Given the description of an element on the screen output the (x, y) to click on. 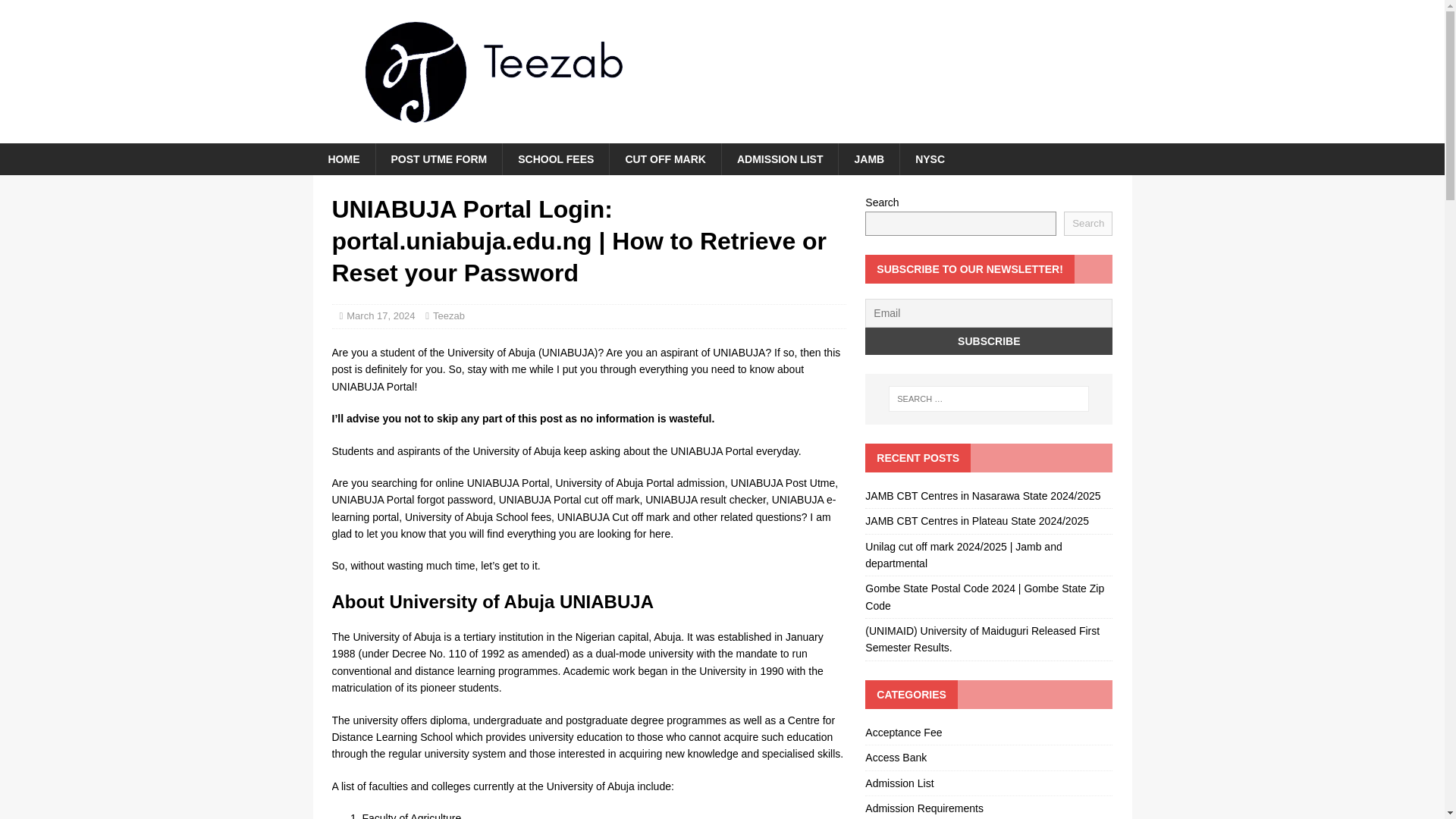
HOME (343, 159)
POST UTME FORM (438, 159)
NYSC (929, 159)
JAMB (868, 159)
Subscribe (988, 340)
March 17, 2024 (380, 315)
CUT OFF MARK (664, 159)
ADMISSION LIST (779, 159)
SCHOOL FEES (555, 159)
Teezab (448, 315)
